Given the description of an element on the screen output the (x, y) to click on. 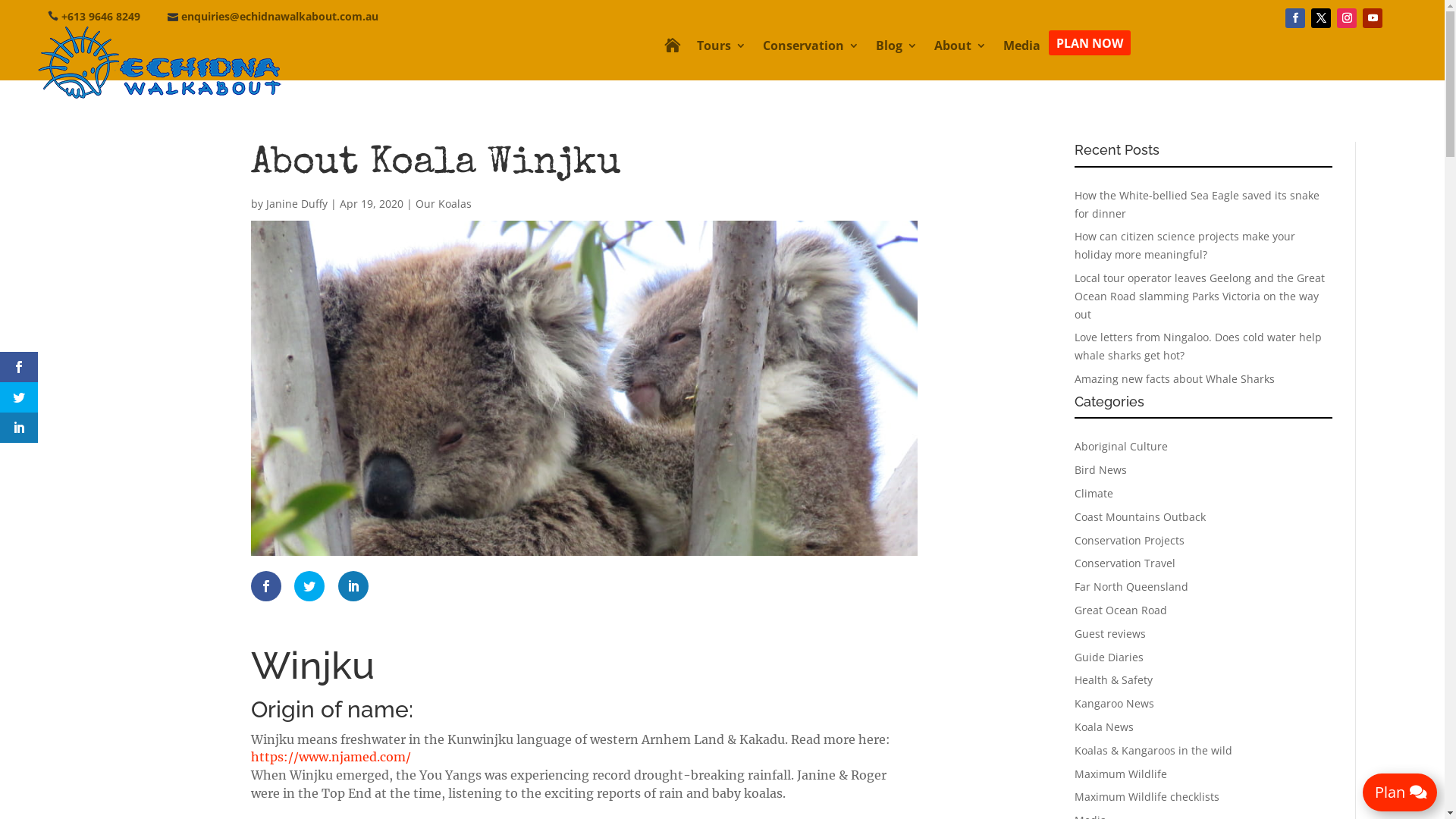
Koalas & Kangaroos in the wild Element type: text (1153, 750)
Conservation Travel Element type: text (1124, 562)
Media Element type: text (1021, 48)
Koala News Element type: text (1103, 726)
Kangaroo News Element type: text (1114, 703)
Maximum Wildlife checklists Element type: text (1146, 796)
Far North Queensland Element type: text (1131, 586)
NGARDANG-winjku-101119-hfp02low-min Element type: hover (584, 387)
Bird News Element type: text (1100, 469)
Guide Diaries Element type: text (1108, 656)
Follow on Instagram Element type: hover (1346, 18)
Aboriginal Culture Element type: text (1120, 446)
Janine Duffy Element type: text (296, 203)
Our Koalas Element type: text (443, 203)
Follow on Facebook Element type: hover (1295, 18)
logo-0C71C3-sml Element type: hover (159, 62)
Great Ocean Road Element type: text (1120, 609)
Follow on X Element type: hover (1320, 18)
Climate Element type: text (1093, 493)
Plan Element type: text (1399, 792)
enquiries@echidnawalkabout.com.au Element type: text (279, 16)
Blog Element type: text (896, 48)
+613 9646 8249 Element type: text (100, 16)
Follow on Youtube Element type: hover (1372, 18)
Coast Mountains Outback Element type: text (1139, 516)
Conservation Projects Element type: text (1129, 540)
Maximum Wildlife Element type: text (1120, 773)
How the White-bellied Sea Eagle saved its snake for dinner Element type: text (1196, 204)
About Element type: text (960, 48)
PLAN NOW Element type: text (1089, 42)
Tours Element type: text (721, 48)
Guest reviews Element type: text (1109, 633)
https://www.njamed.com/ Element type: text (331, 756)
Amazing new facts about Whale Sharks Element type: text (1174, 378)
Health & Safety Element type: text (1113, 679)
Conservation Element type: text (810, 48)
